Given the description of an element on the screen output the (x, y) to click on. 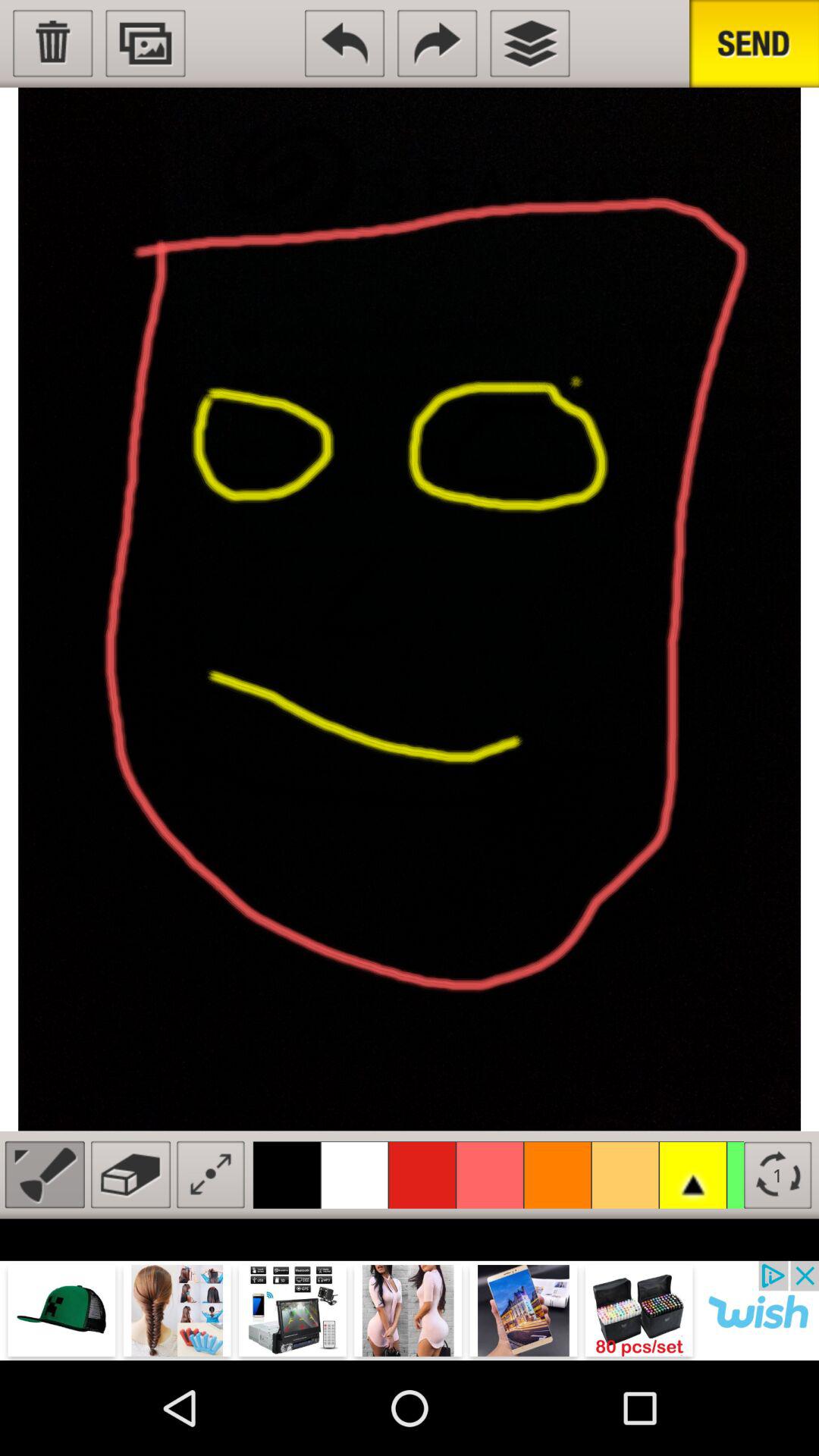
resize brush (210, 1174)
